Given the description of an element on the screen output the (x, y) to click on. 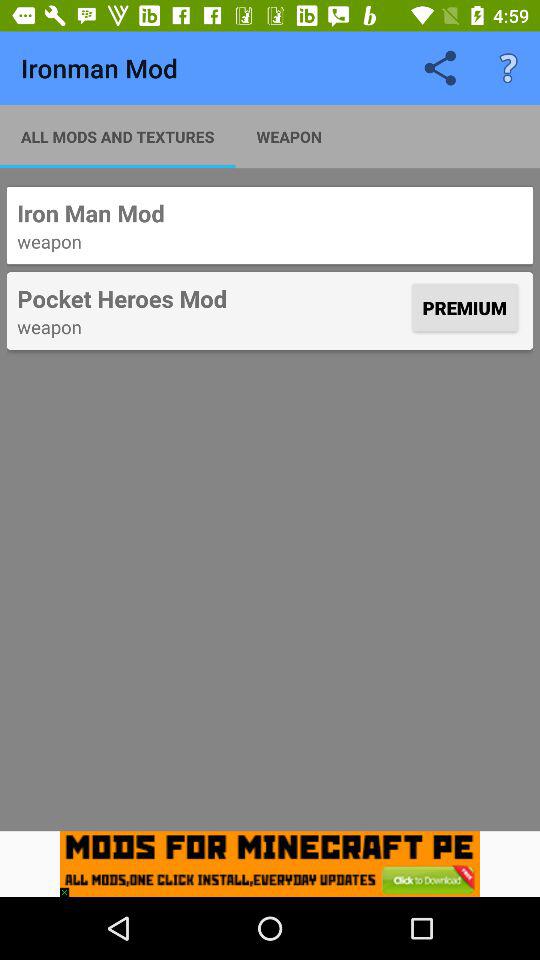
choose icon below the weapon icon (270, 863)
